Given the description of an element on the screen output the (x, y) to click on. 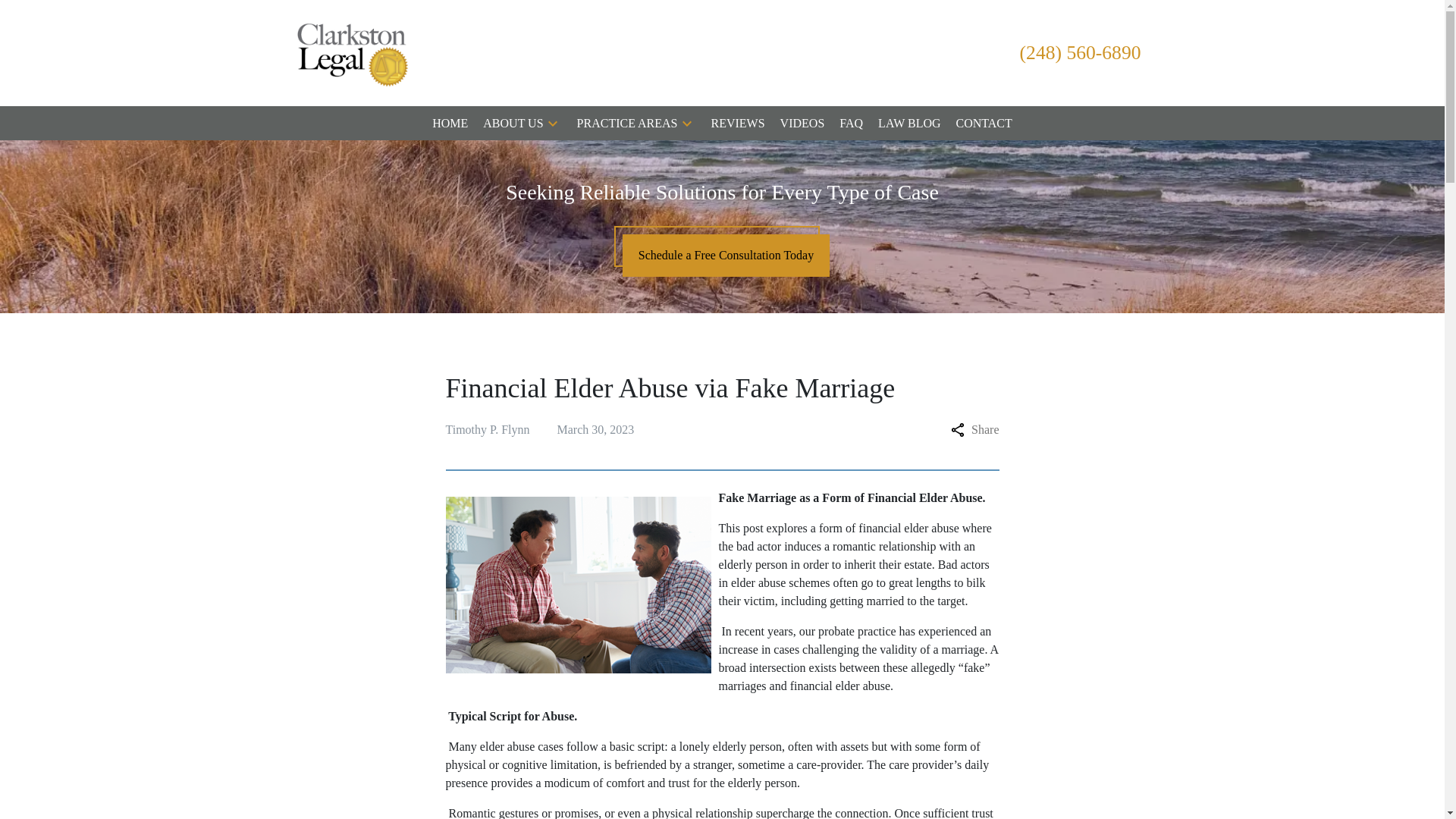
ABOUT US (513, 123)
HOME (449, 123)
PRACTICE AREAS (627, 123)
